Given the description of an element on the screen output the (x, y) to click on. 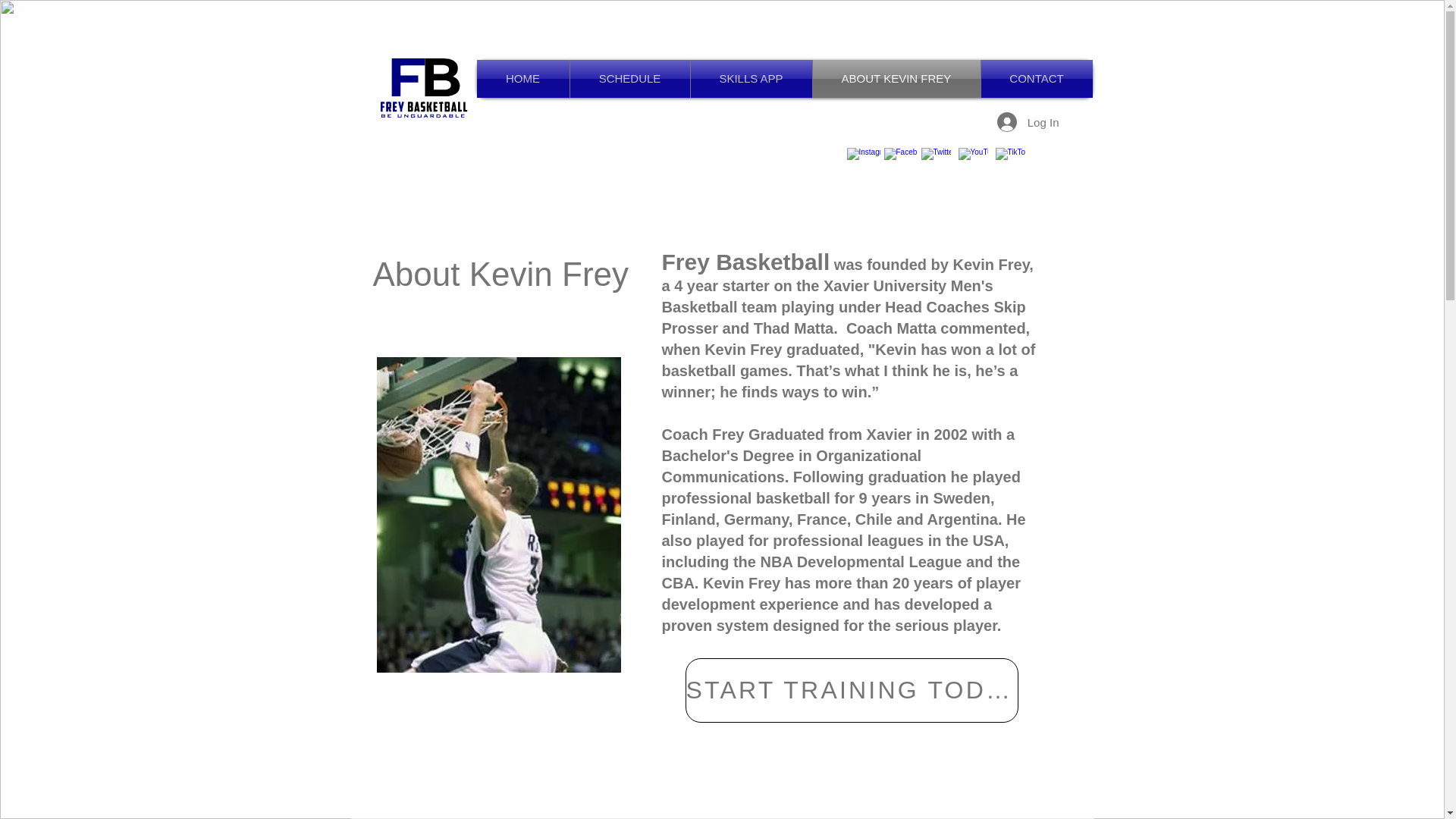
START TRAINING TODAY! (851, 690)
SCHEDULE (630, 78)
ABOUT KEVIN FREY (895, 78)
SKILLS APP (750, 78)
Log In (1028, 121)
HOME (522, 78)
CONTACT (1037, 78)
